Given the description of an element on the screen output the (x, y) to click on. 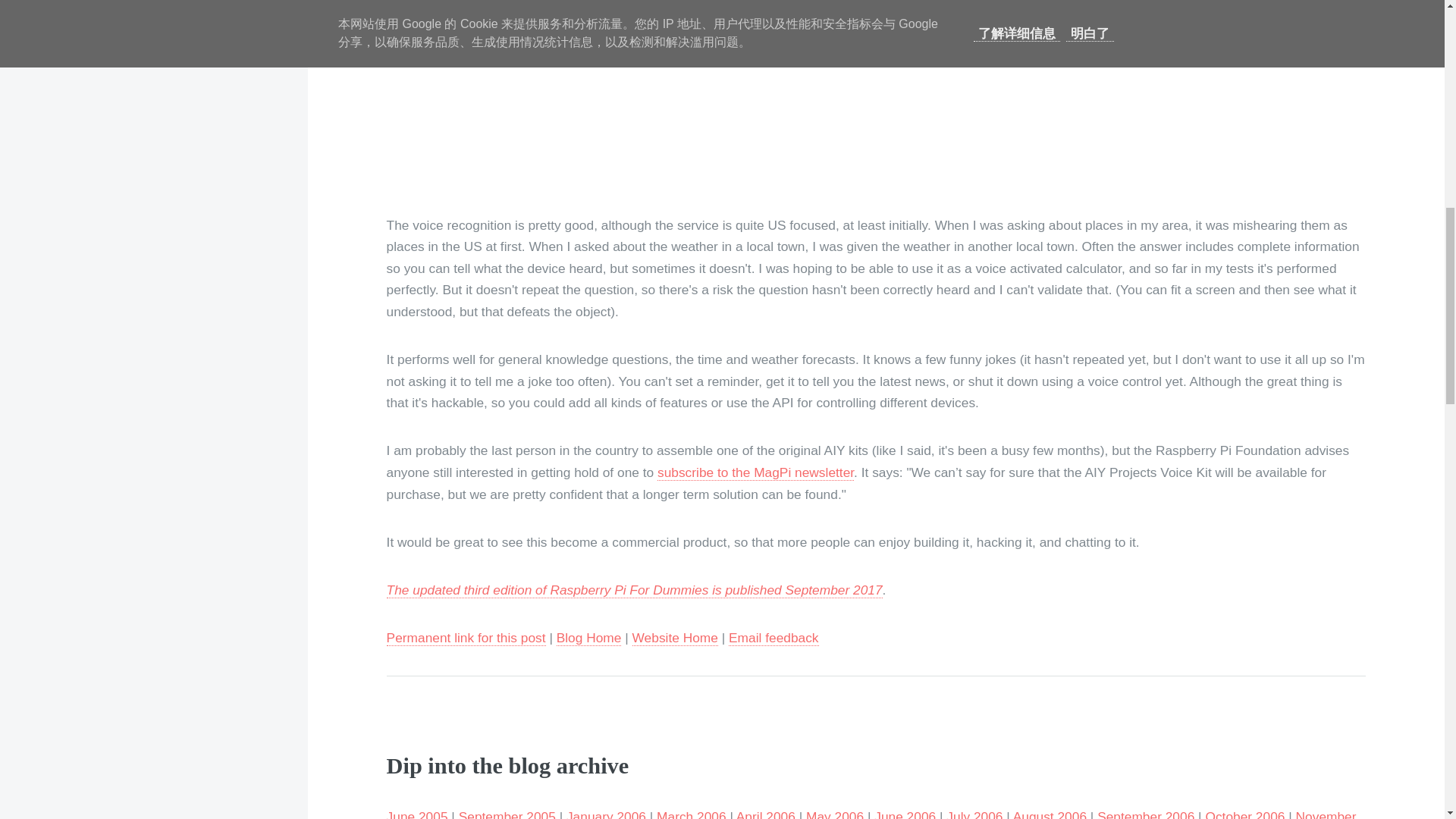
August 2006 (1049, 814)
April 2006 (765, 814)
July 2006 (974, 814)
September 2006 (1145, 814)
subscribe to the MagPi newsletter (755, 472)
March 2006 (691, 814)
June 2006 (905, 814)
Blog Home (588, 637)
October 2006 (1244, 814)
